Given the description of an element on the screen output the (x, y) to click on. 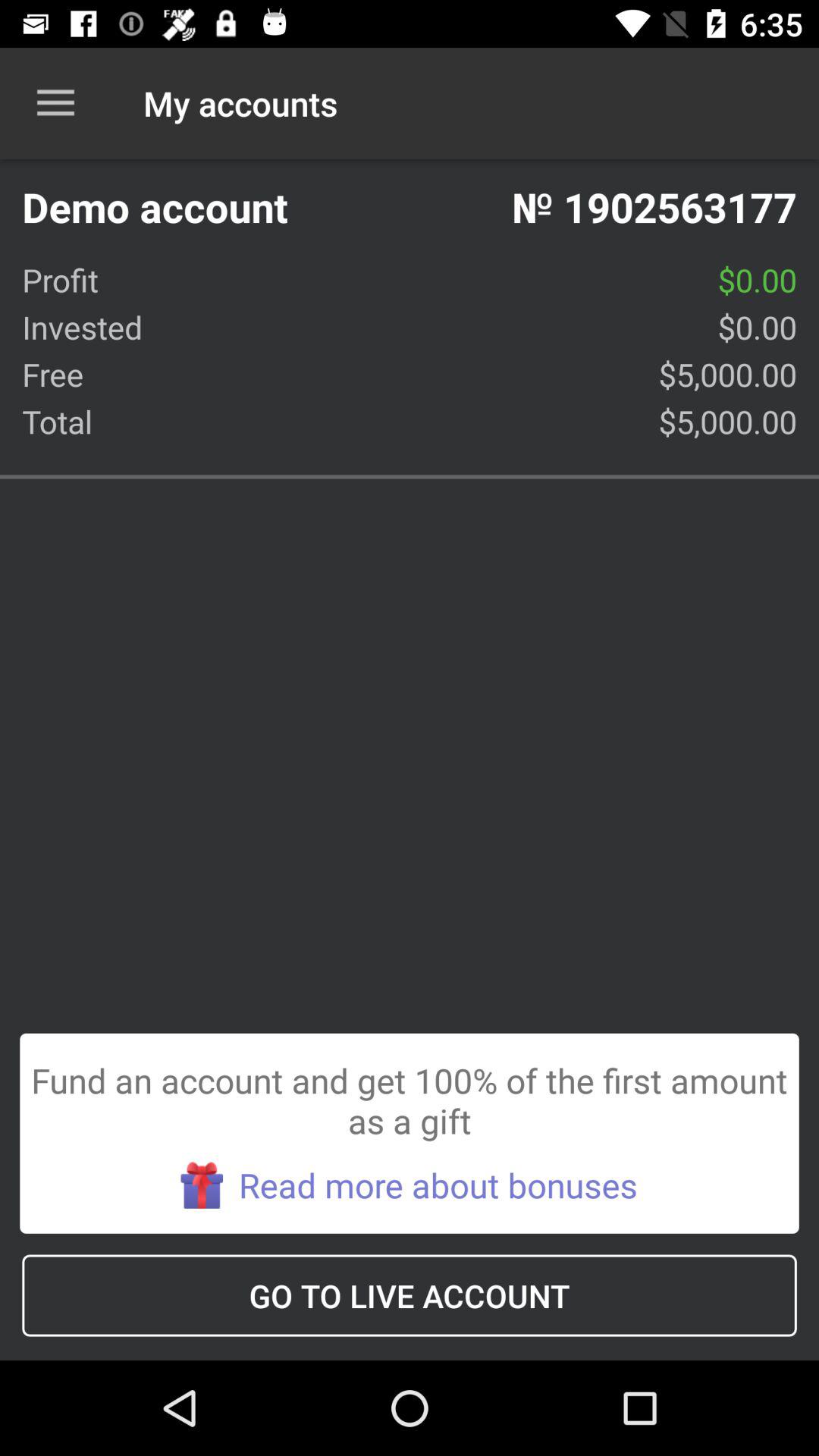
jump to go to live icon (409, 1295)
